Given the description of an element on the screen output the (x, y) to click on. 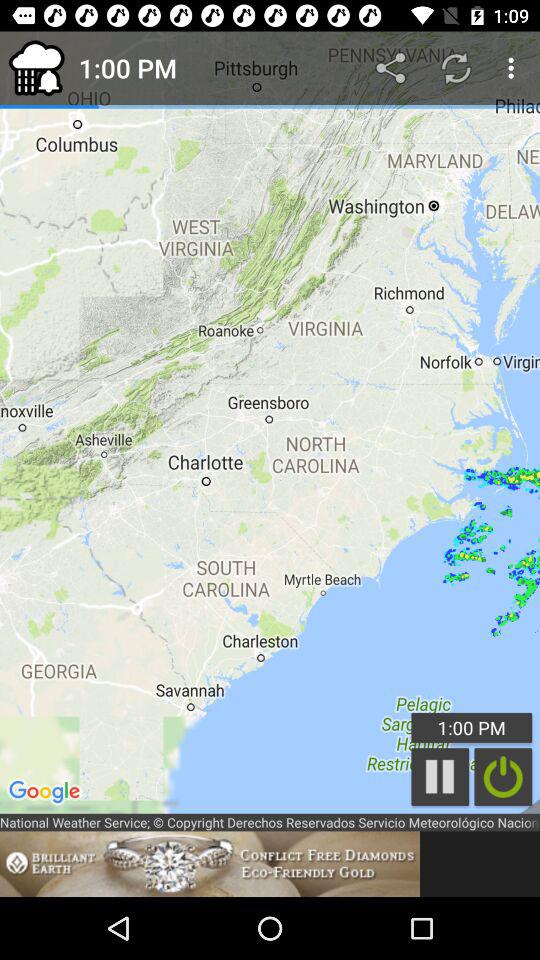
advertisement about brilliant earth (210, 864)
